Given the description of an element on the screen output the (x, y) to click on. 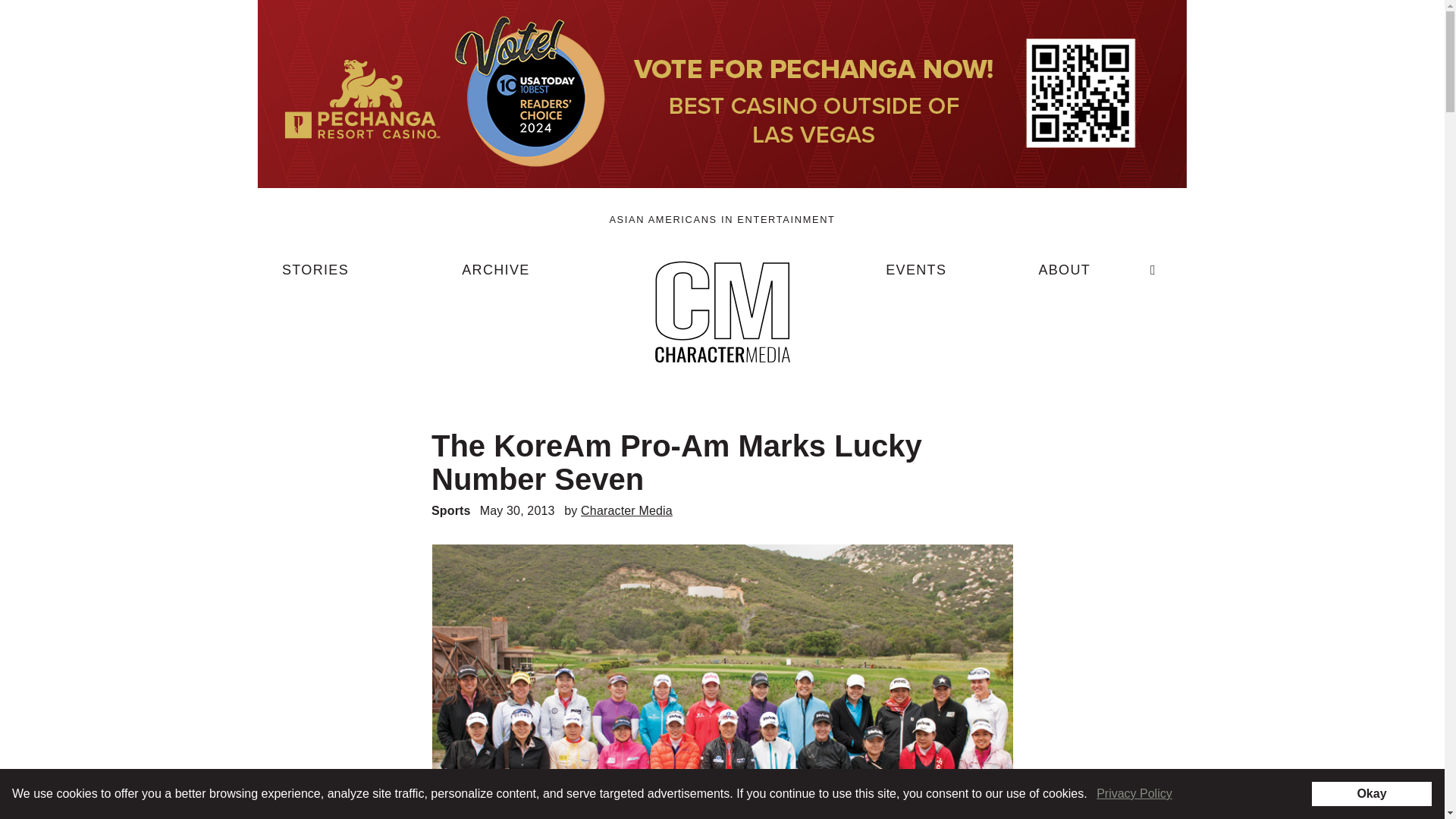
Character Media (626, 510)
Sports (450, 510)
STORIES (315, 276)
ABOUT (1064, 276)
EVENTS (915, 276)
ARCHIVE (495, 276)
